Given the description of an element on the screen output the (x, y) to click on. 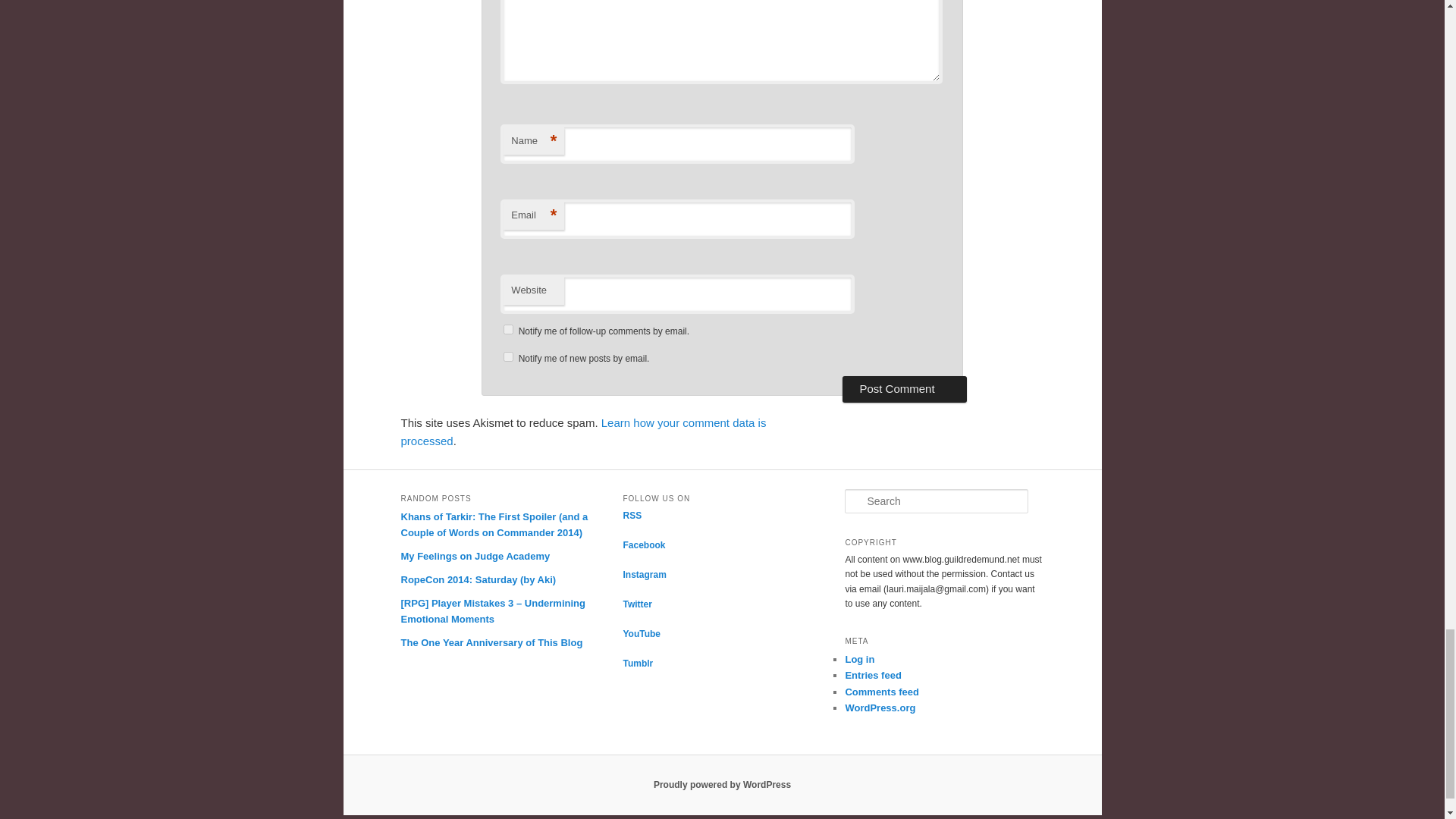
Semantic Personal Publishing Platform (721, 784)
subscribe (508, 356)
subscribe (508, 329)
The One Year Anniversary of This Blog (491, 642)
Post Comment (904, 388)
Entries feed (872, 674)
Tumblr (637, 663)
Post Comment (904, 388)
My Feelings on Judge Academy (475, 555)
Instagram (644, 574)
